Given the description of an element on the screen output the (x, y) to click on. 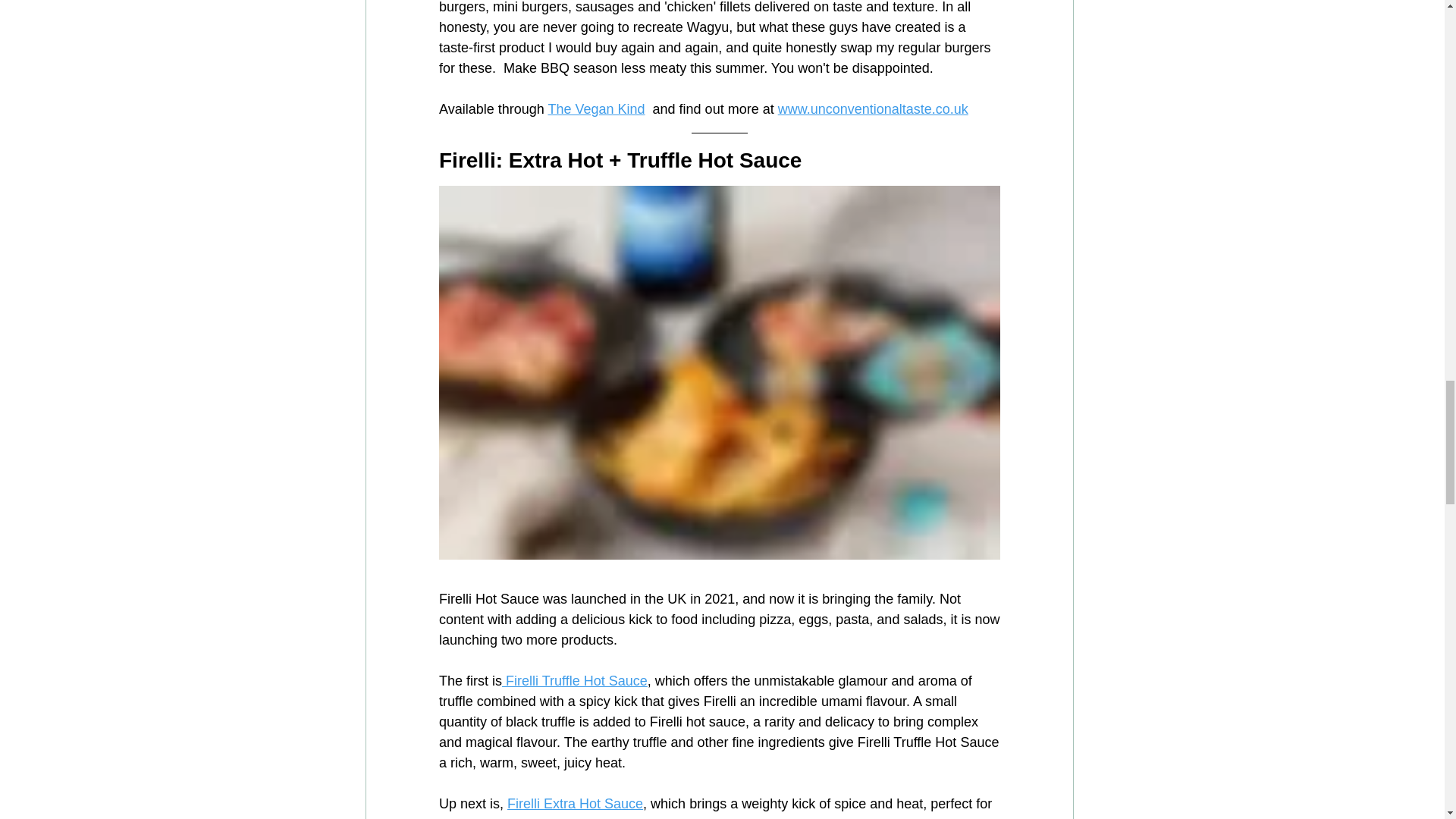
www.unconventionaltaste.co.uk (872, 109)
Firelli Extra Hot Sauce (574, 803)
The Vegan Kind (596, 109)
 Firelli Truffle Hot Sauce (574, 680)
